Given the description of an element on the screen output the (x, y) to click on. 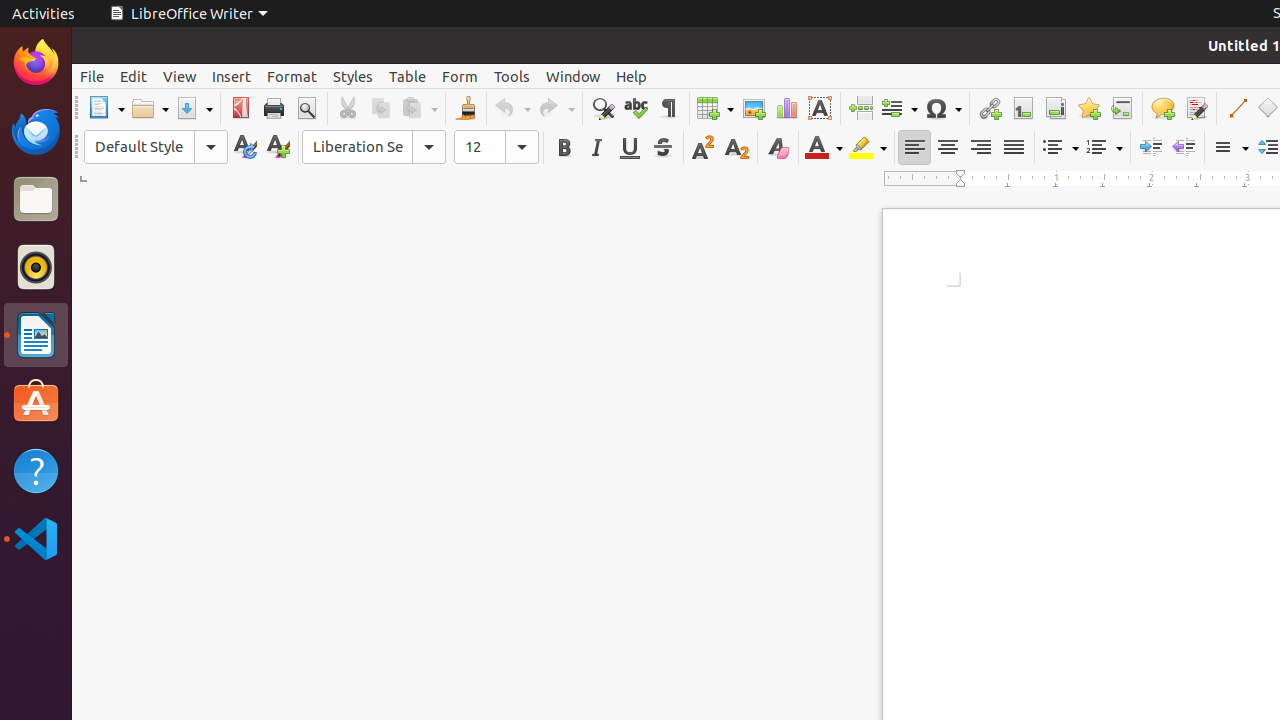
Form Element type: menu (460, 76)
Bookmark Element type: push-button (1088, 108)
Activities Element type: label (43, 13)
Endnote Element type: push-button (1055, 108)
Highlight Color Element type: push-button (868, 147)
